Given the description of an element on the screen output the (x, y) to click on. 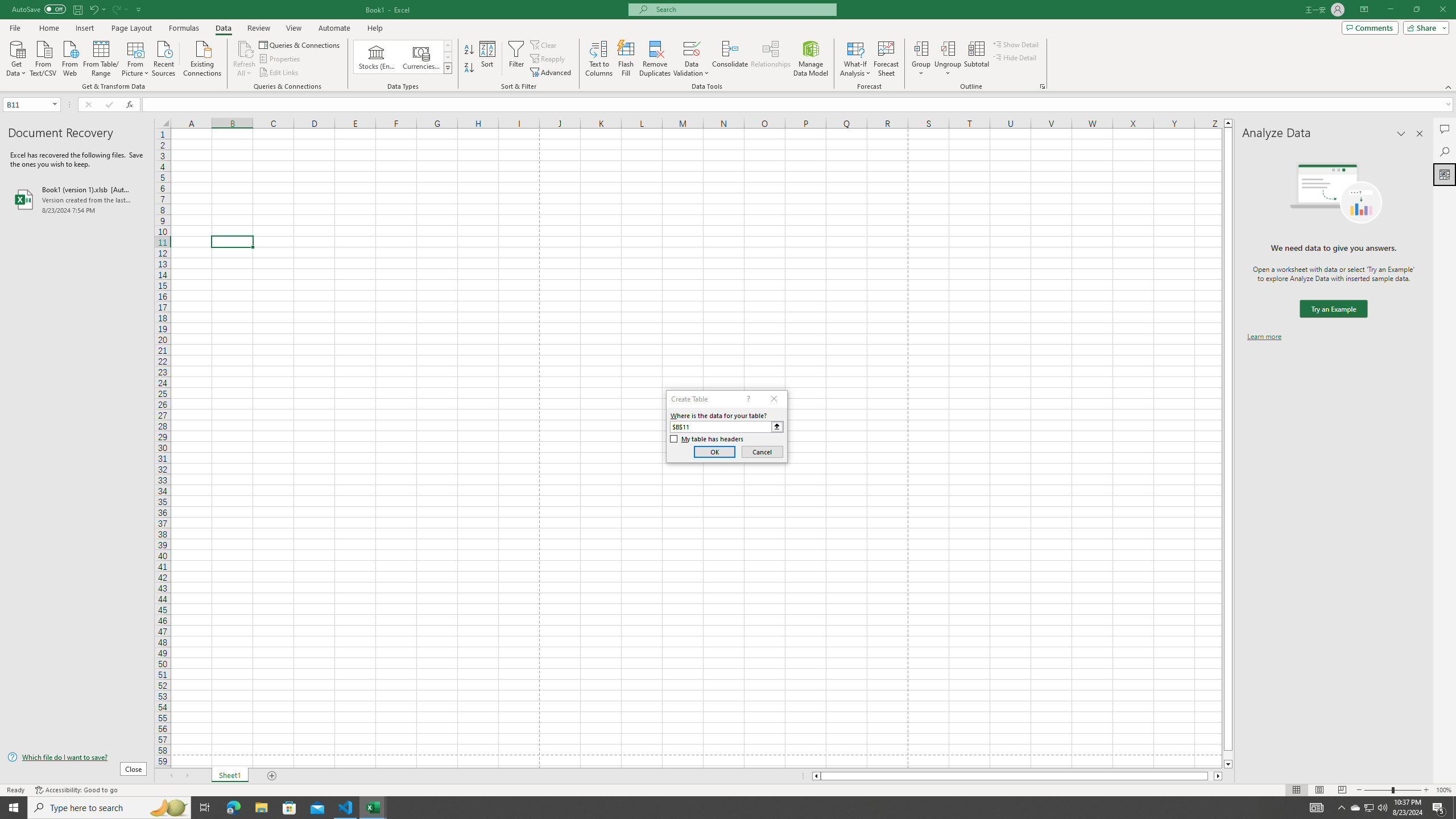
From Table/Range (100, 57)
Text to Columns... (598, 58)
Search (1444, 151)
AutomationID: ConvertToLinkedEntity (403, 56)
Sort... (487, 58)
From Web (69, 57)
